Given the description of an element on the screen output the (x, y) to click on. 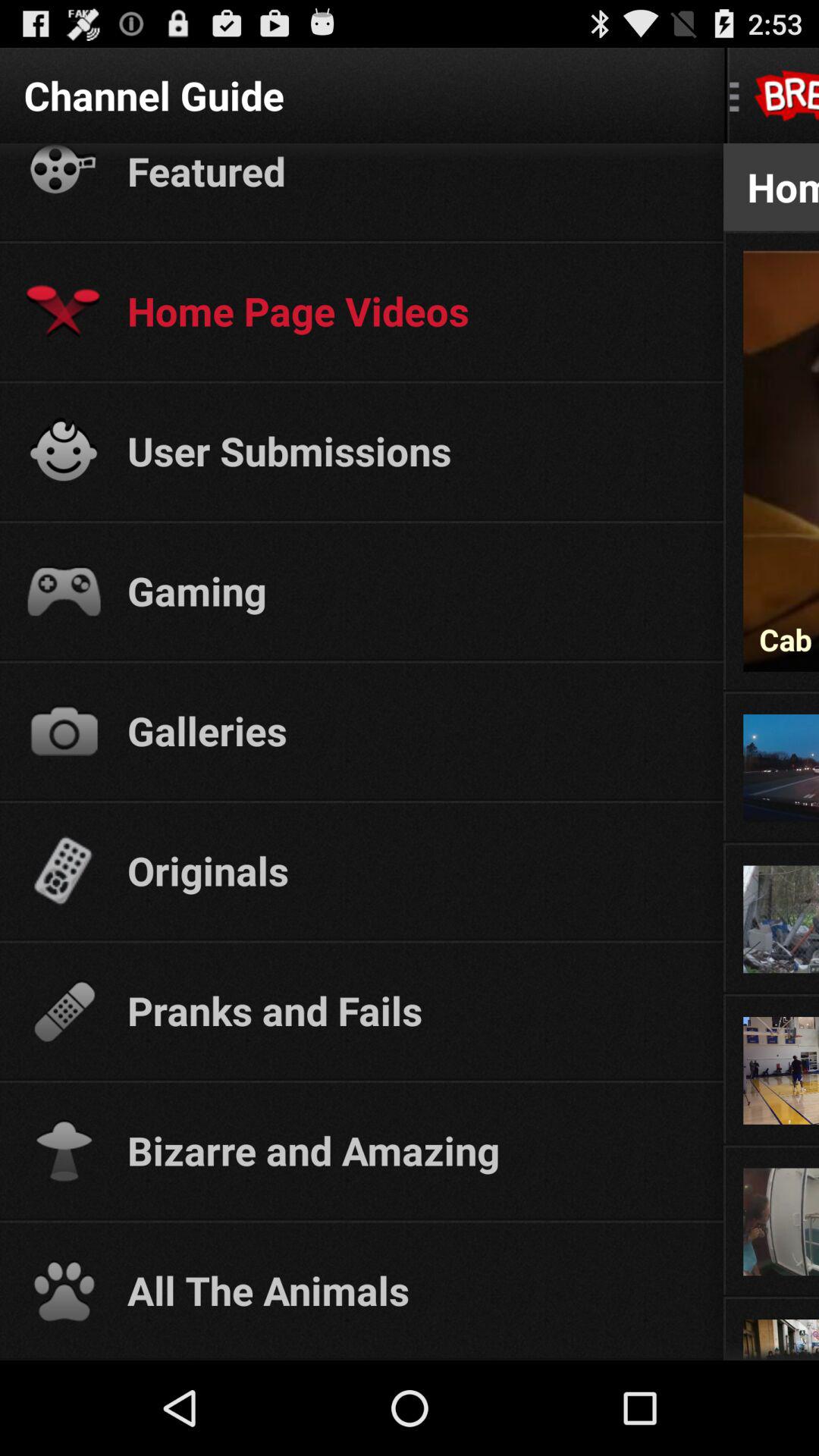
tap galleries icon (411, 730)
